Given the description of an element on the screen output the (x, y) to click on. 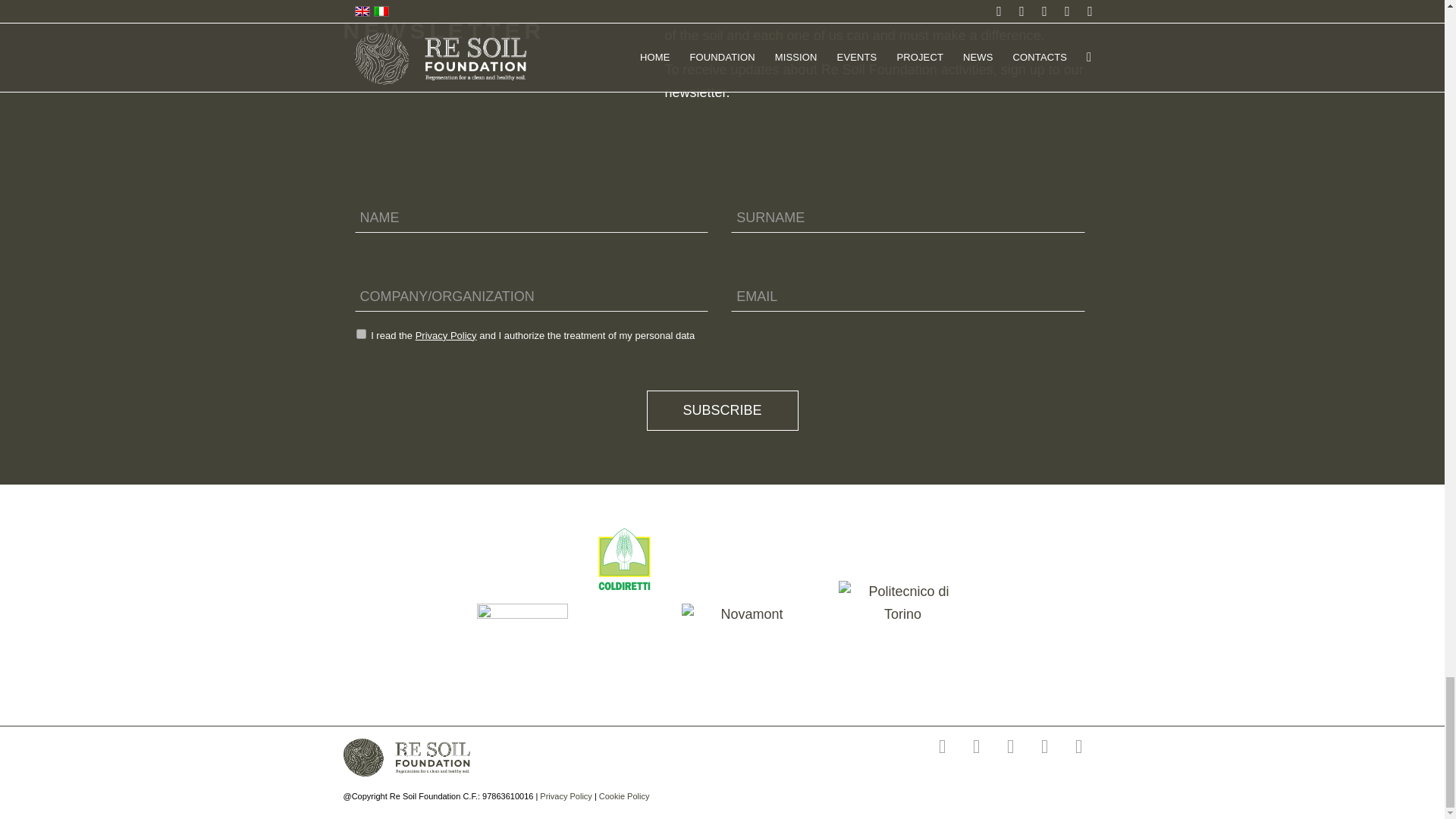
1 (361, 334)
SUBSCRIBE (721, 410)
Twitter (942, 745)
